Given the description of an element on the screen output the (x, y) to click on. 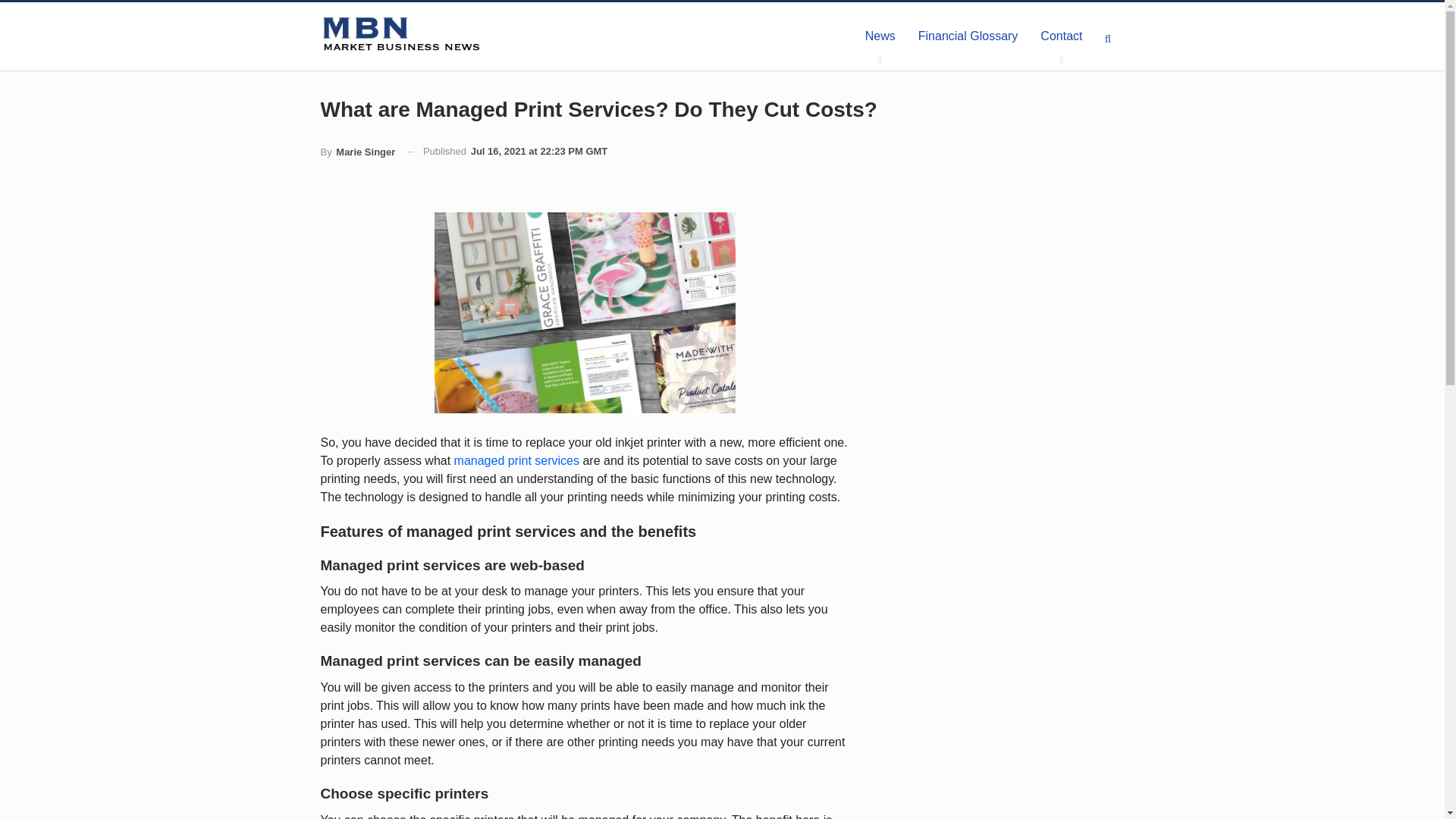
By Marie Singer (357, 152)
managed print services (516, 460)
Browse Author Articles (357, 152)
News (880, 36)
Financial Glossary (968, 36)
Contact (1061, 36)
